Given the description of an element on the screen output the (x, y) to click on. 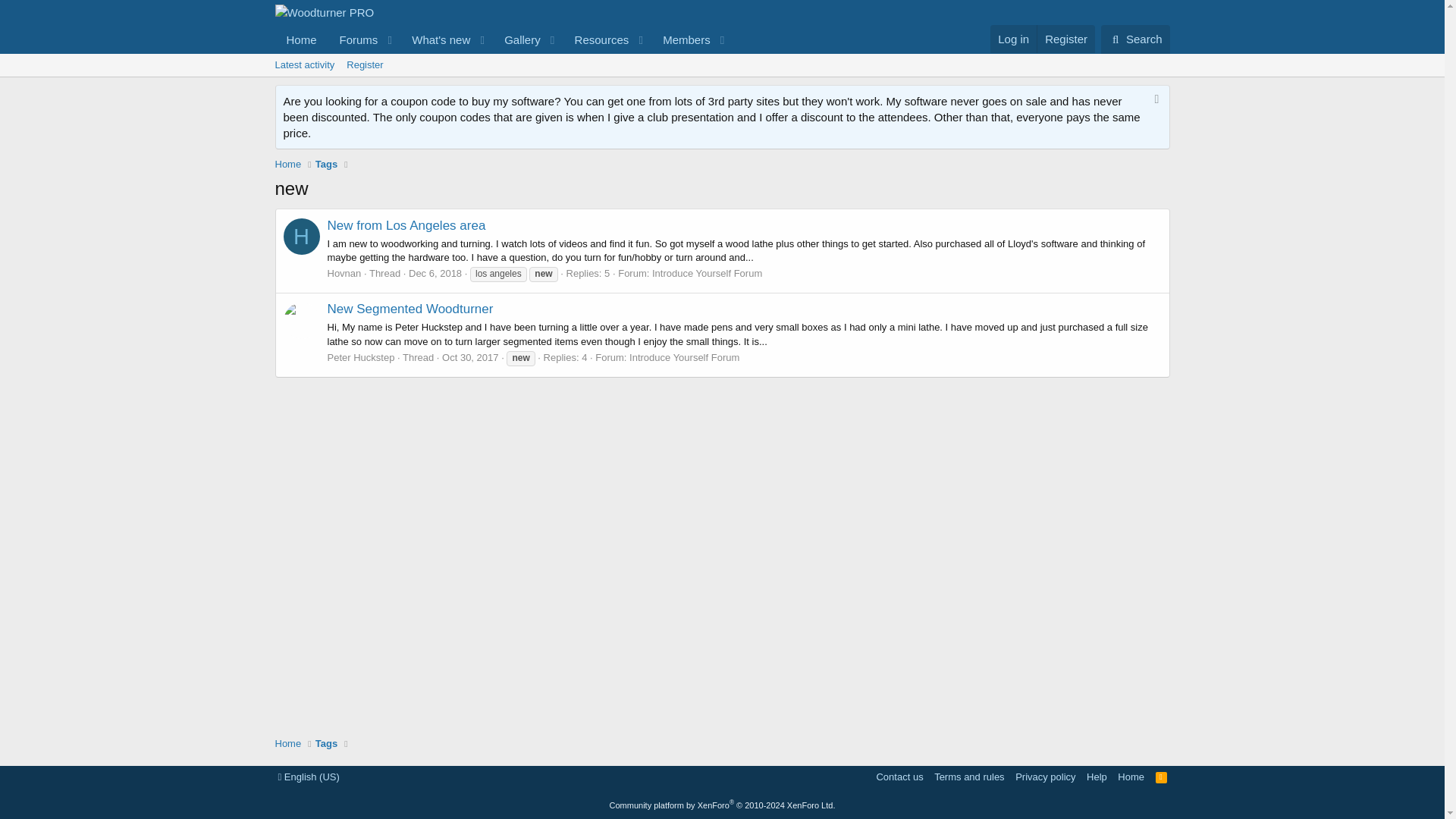
Search (1135, 39)
Latest activity (303, 65)
Dismiss notice (1154, 100)
Members (680, 39)
What's new (502, 39)
Forums (435, 39)
Hovnan (354, 39)
Register (720, 65)
Resources (301, 236)
Search (364, 65)
Register (596, 39)
Oct 30, 2017 at 8:00 PM (1135, 39)
Log in (1065, 39)
